Given the description of an element on the screen output the (x, y) to click on. 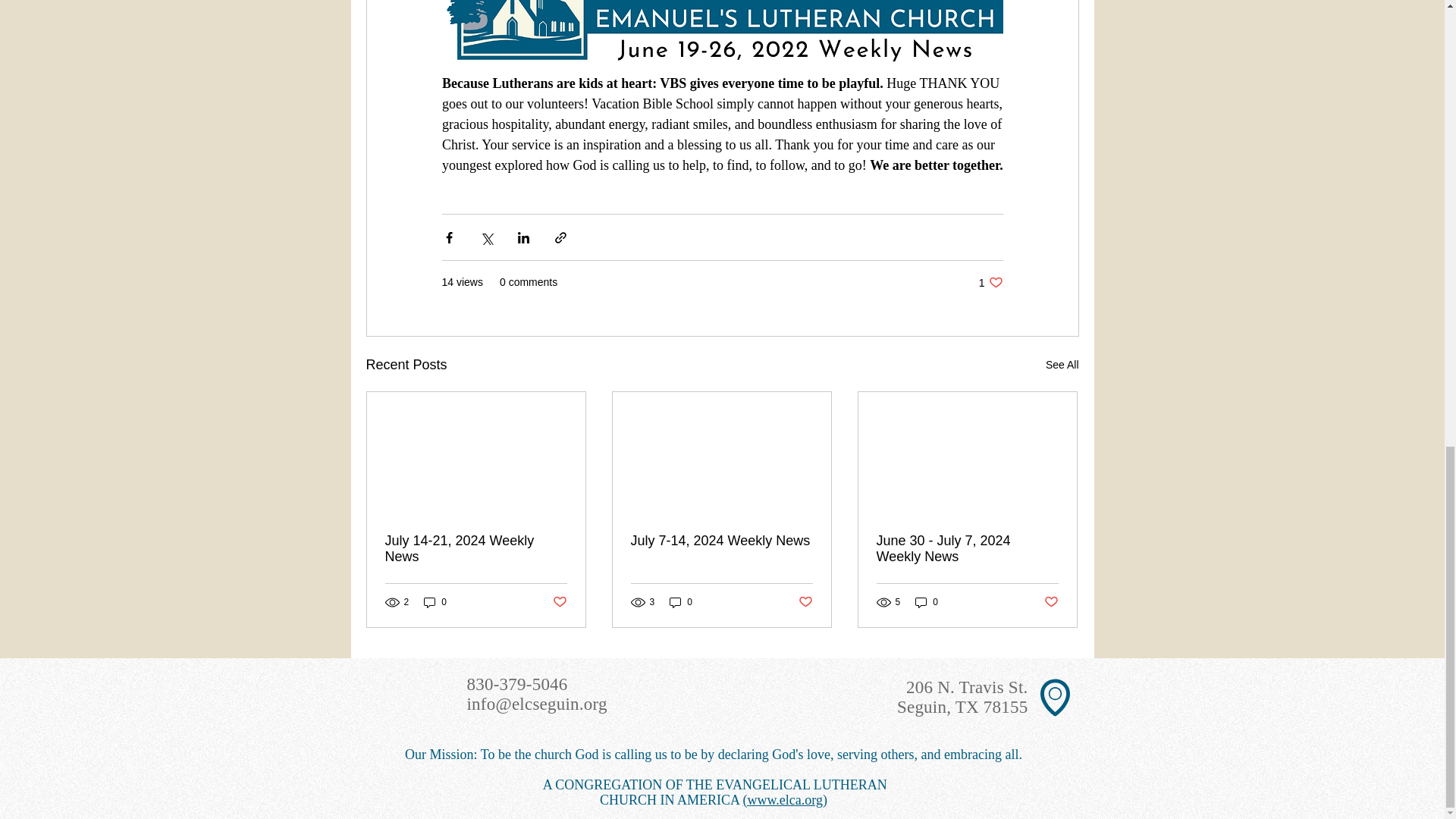
See All (990, 282)
